Given the description of an element on the screen output the (x, y) to click on. 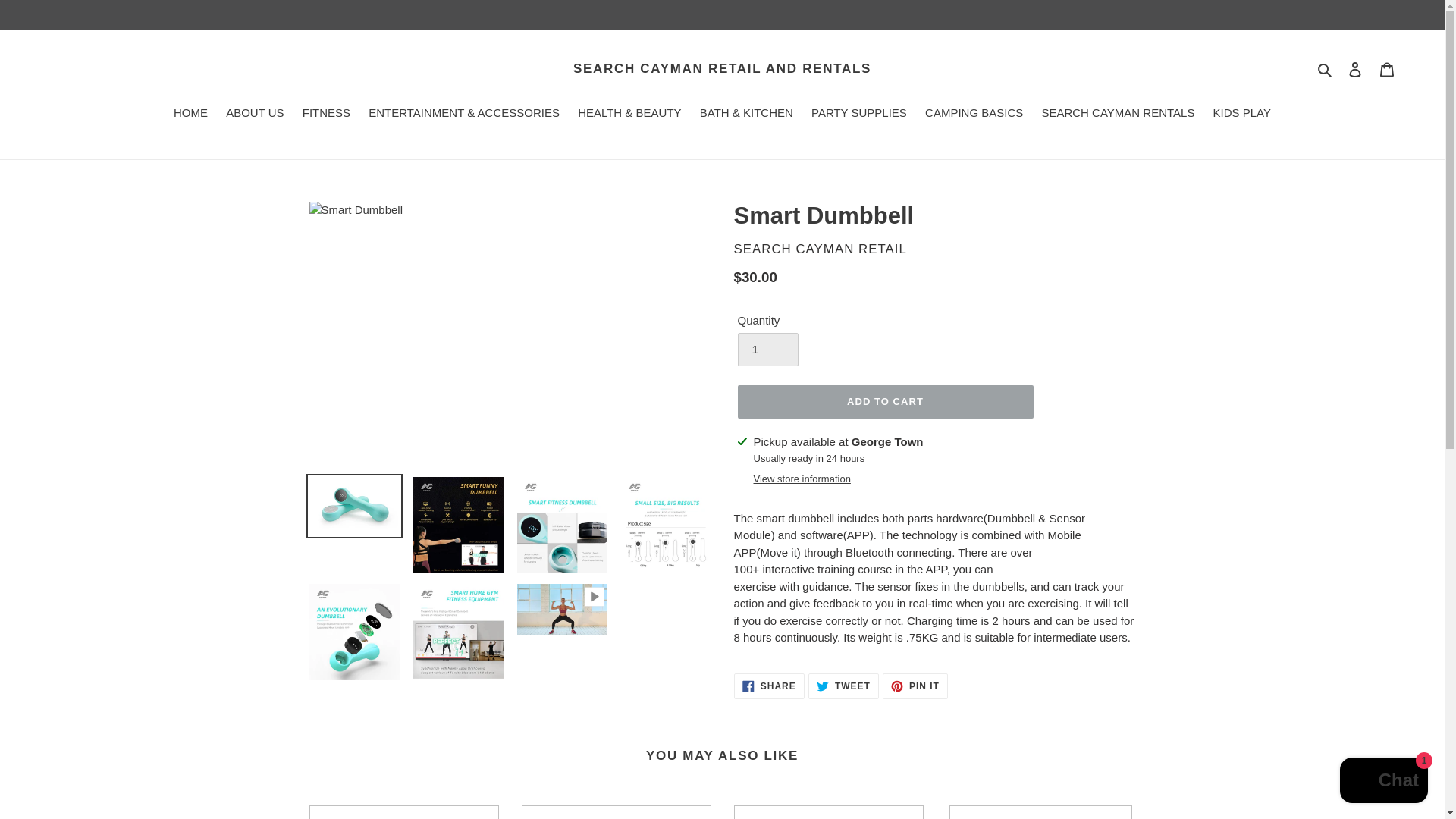
Cart (1387, 69)
Search (1326, 68)
ABOUT US (254, 114)
FITNESS (326, 114)
SEARCH CAYMAN RETAIL AND RENTALS (721, 68)
KIDS PLAY (1241, 114)
PARTY SUPPLIES (858, 114)
SEARCH CAYMAN RENTALS (1117, 114)
1 (766, 349)
Log in (1355, 69)
Shopify online store chat (1383, 781)
CAMPING BASICS (973, 114)
HOME (190, 114)
